Given the description of an element on the screen output the (x, y) to click on. 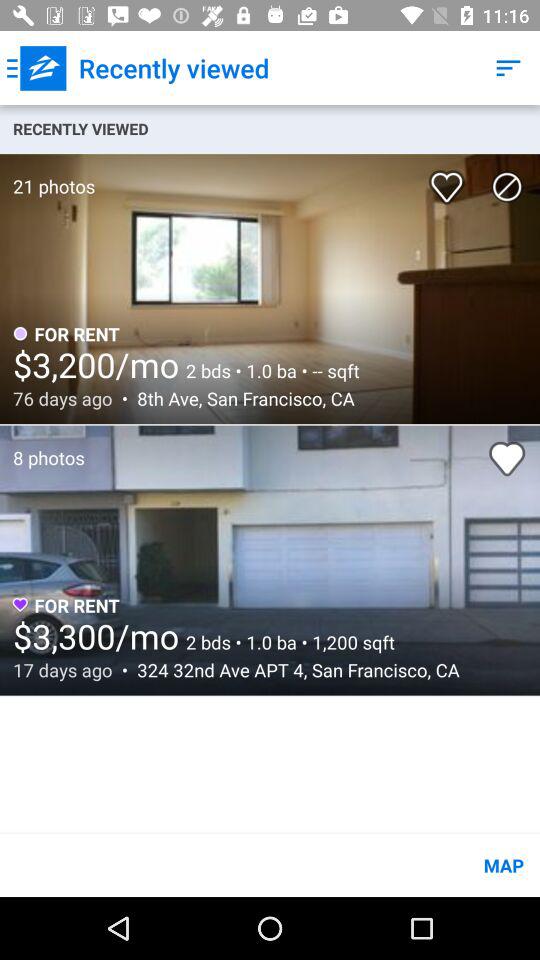
turn off the icon to the right of 21 photos (450, 180)
